Given the description of an element on the screen output the (x, y) to click on. 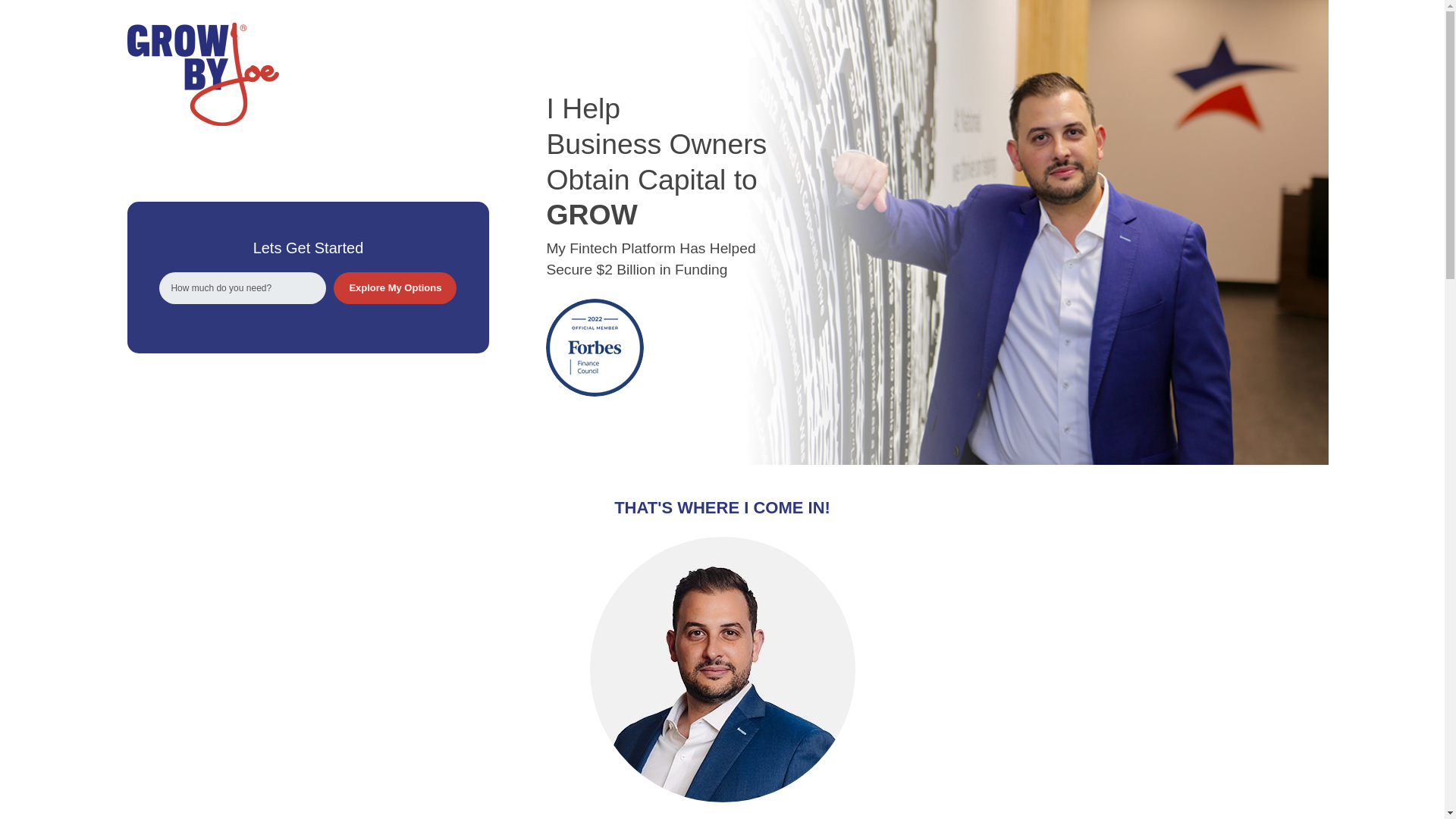
NBC GrowByJoe Logo 300ppi (203, 74)
Explore My Options (395, 287)
Joseph-Camberato (722, 669)
Explore My Options (395, 287)
forbes-official-member (594, 347)
